Given the description of an element on the screen output the (x, y) to click on. 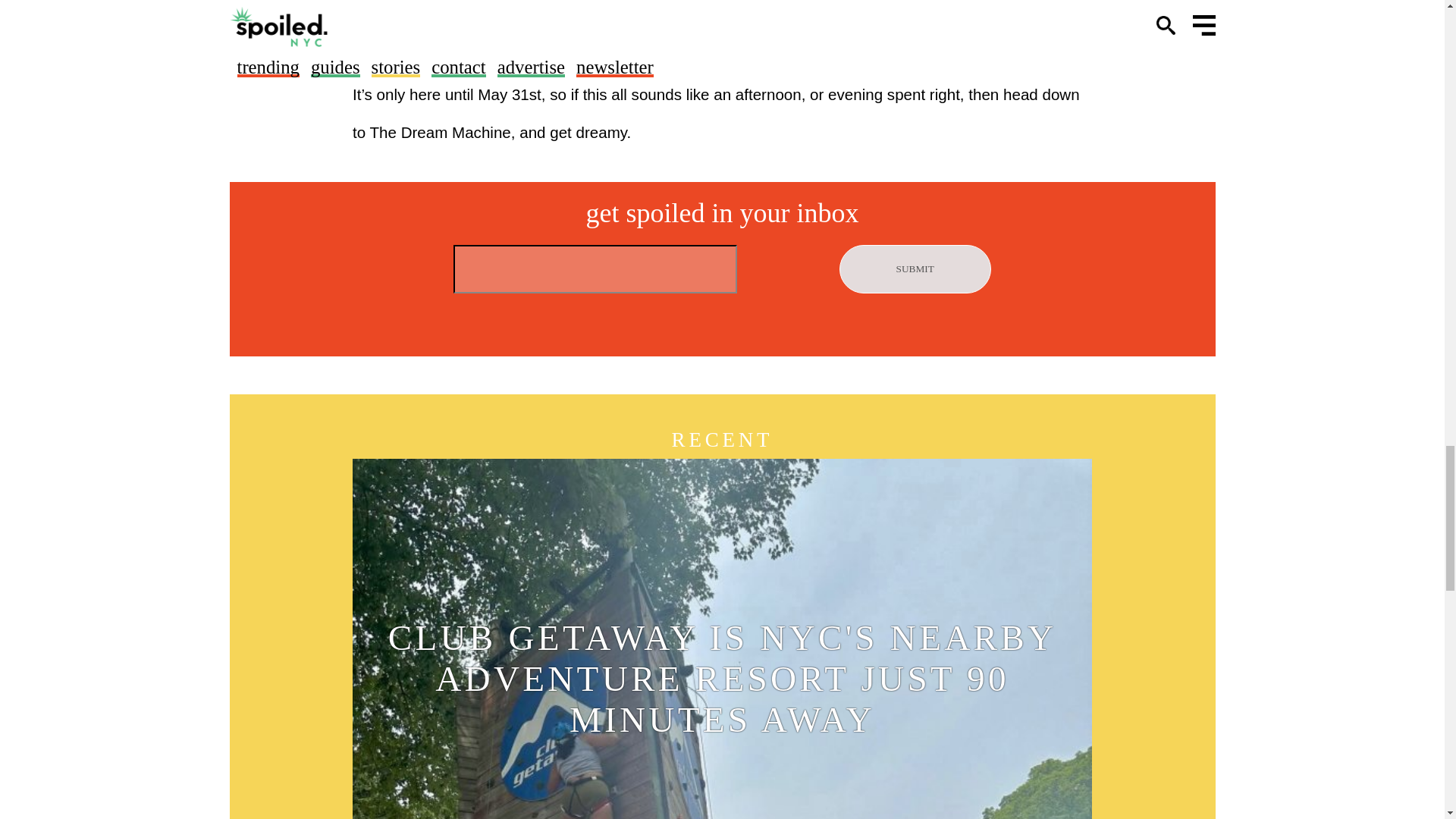
SUBMIT (915, 268)
